Given the description of an element on the screen output the (x, y) to click on. 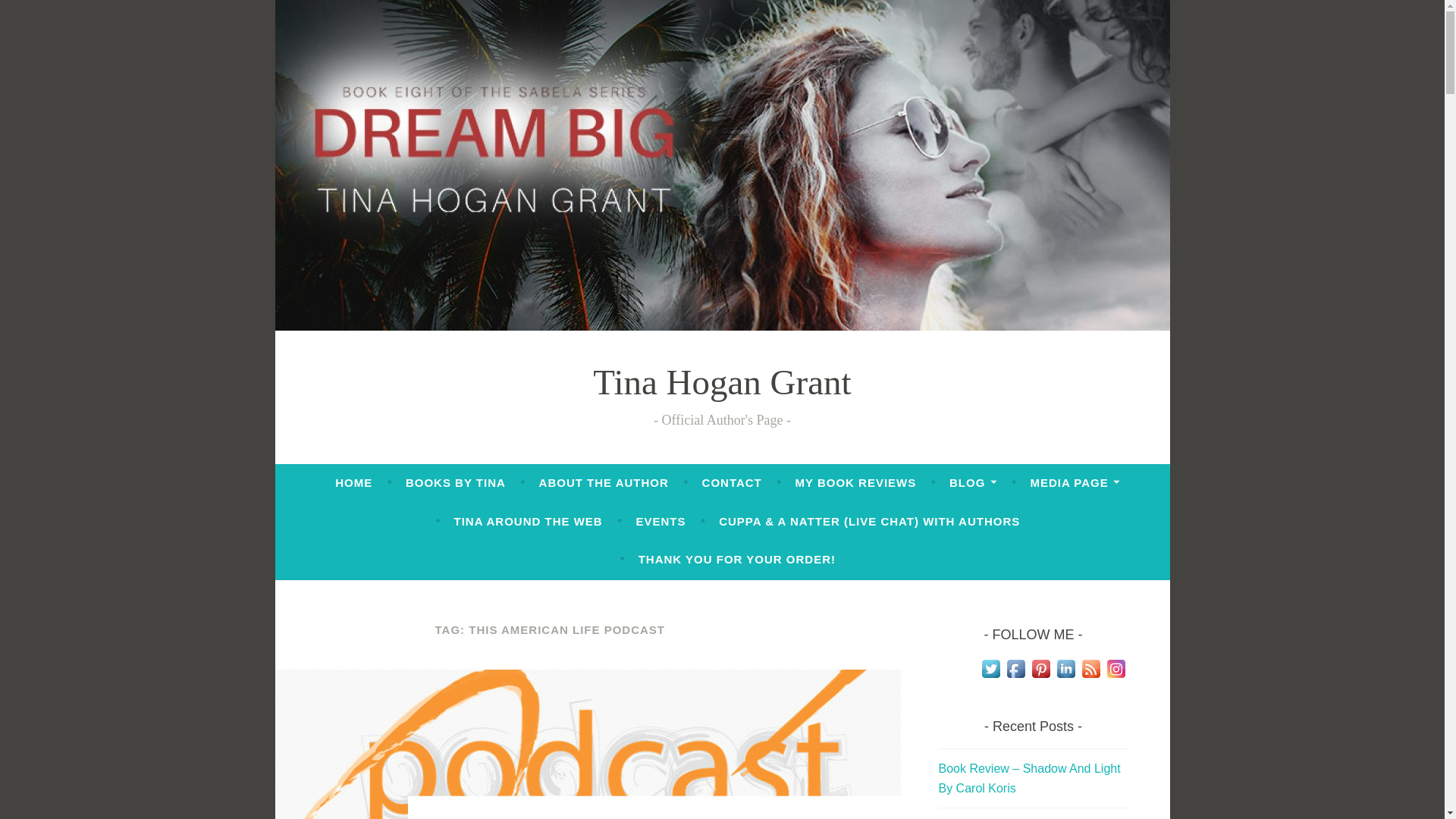
MEDIA PAGE (1074, 482)
A DAY IN MY LIFE (489, 817)
Visit Us On Pinterest (1039, 676)
Check Our Feed (1090, 676)
ABOUT THE AUTHOR (603, 482)
THANK YOU FOR YOUR ORDER! (737, 559)
Visit Us On Facebook (1015, 676)
BLOG (973, 482)
MY BOOK REVIEWS (854, 482)
EVENTS (659, 521)
HOME (353, 482)
TINA AROUND THE WEB (527, 521)
Visit Us On Twitter (990, 676)
CONTACT (731, 482)
Visit Us On Instagram (1114, 676)
